Given the description of an element on the screen output the (x, y) to click on. 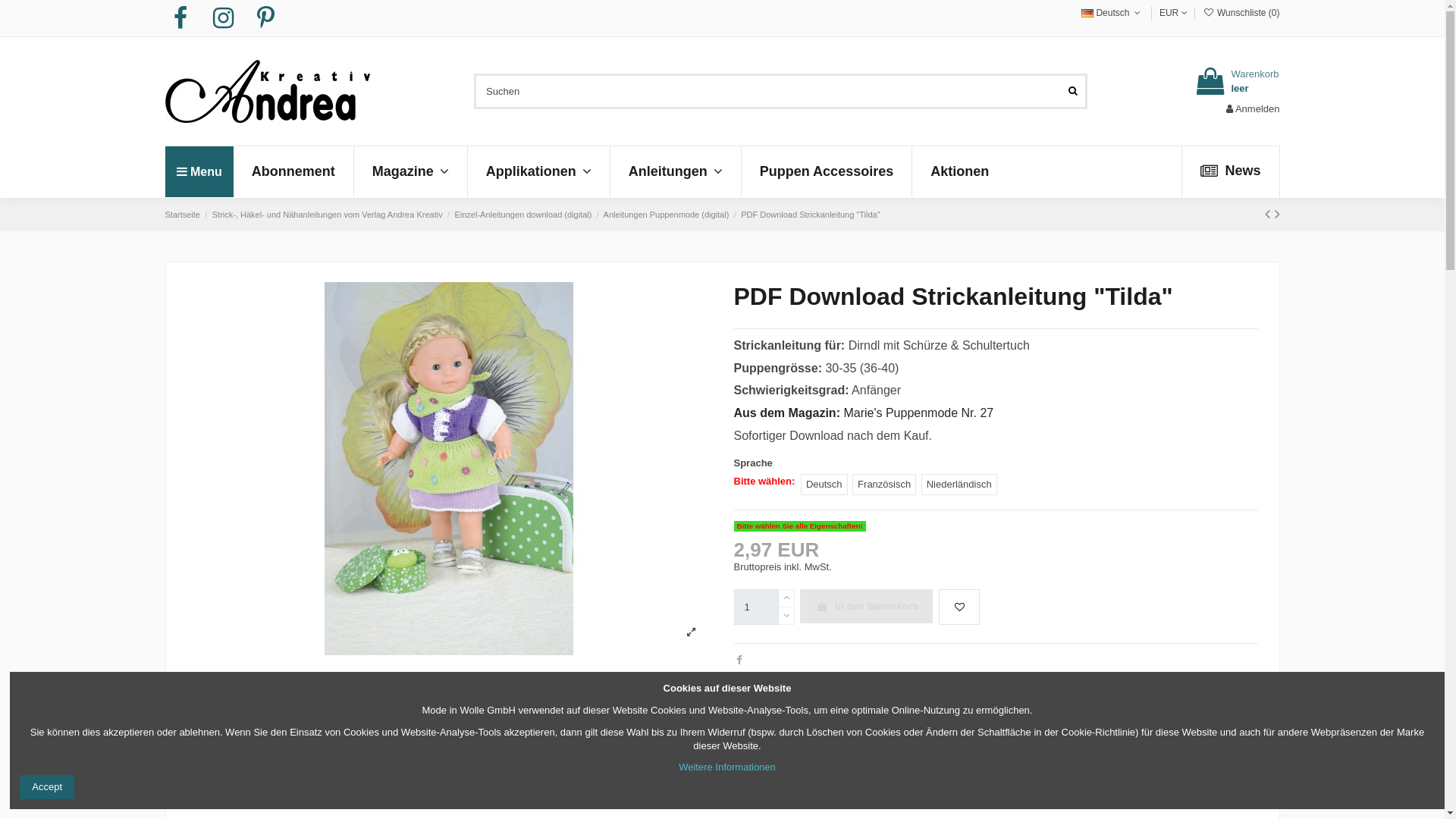
Warenkorb
leer Element type: text (1236, 80)
Anmelden Element type: text (1252, 108)
Deutsch Element type: text (1112, 12)
EUR Element type: text (1173, 12)
Puppen Accessoires Element type: text (825, 171)
Einzel-Anleitungen download (digital) Element type: text (522, 214)
Previous product Element type: hover (1269, 213)
Accept Element type: text (46, 787)
Anleitungen Puppenmode (digital) Element type: text (666, 214)
Startseite Element type: text (182, 214)
In den Warenkorb Element type: text (866, 606)
Magazine Element type: text (410, 171)
Wunschliste (0) Element type: text (1240, 12)
Beschreibung Element type: text (996, 698)
Abonnement Element type: text (293, 171)
Applikationen Element type: text (538, 171)
Next product Element type: hover (1276, 213)
Anleitungen Element type: text (674, 171)
  Element type: text (735, 678)
Aktionen Element type: text (959, 171)
Teilen Element type: hover (738, 659)
News Element type: text (1229, 171)
Weitere Informationen Element type: text (726, 766)
